Given the description of an element on the screen output the (x, y) to click on. 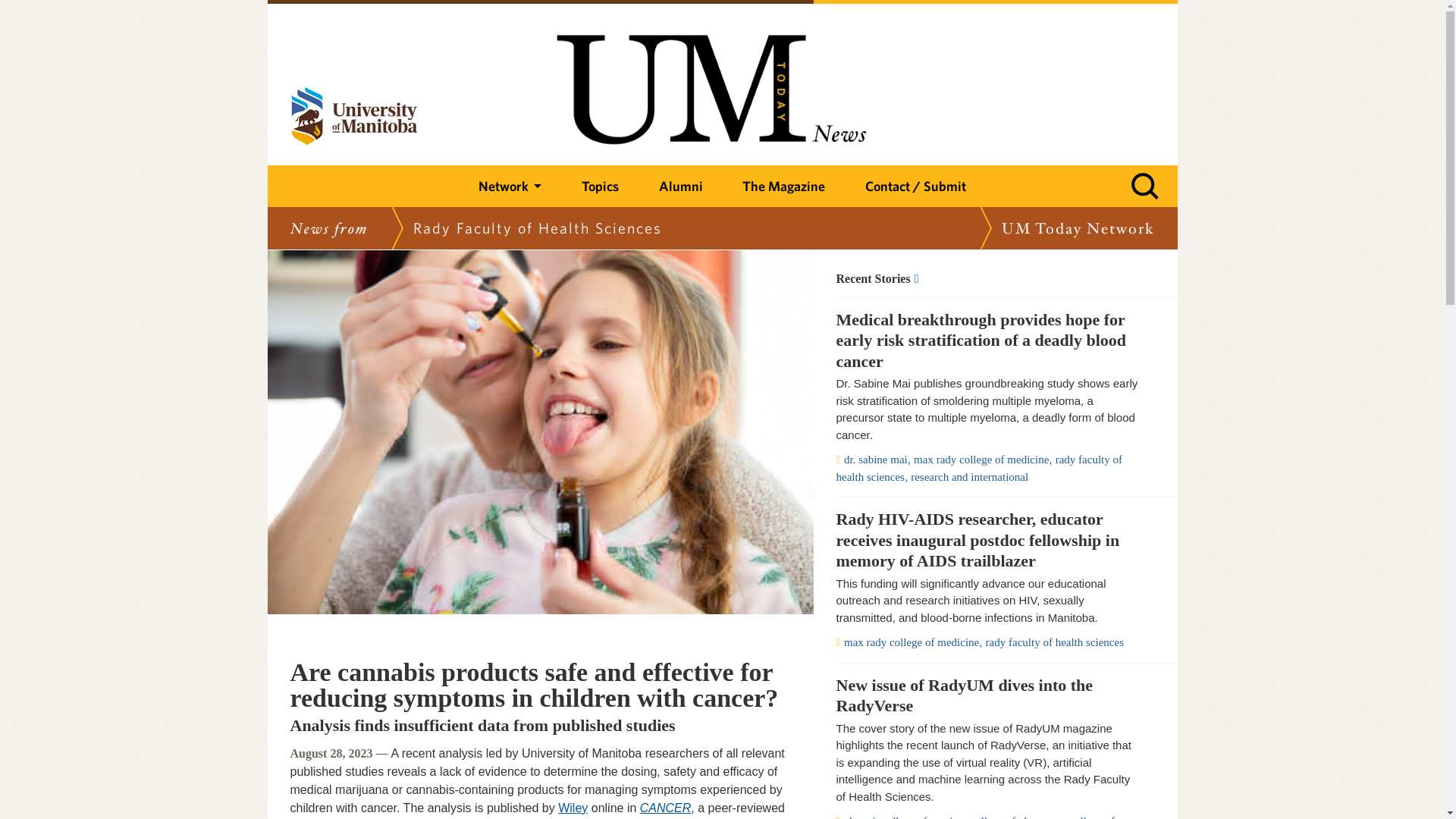
Network (510, 186)
News Archives (986, 278)
New issue of RadyUM dives into the RadyVerse (986, 695)
